Given the description of an element on the screen output the (x, y) to click on. 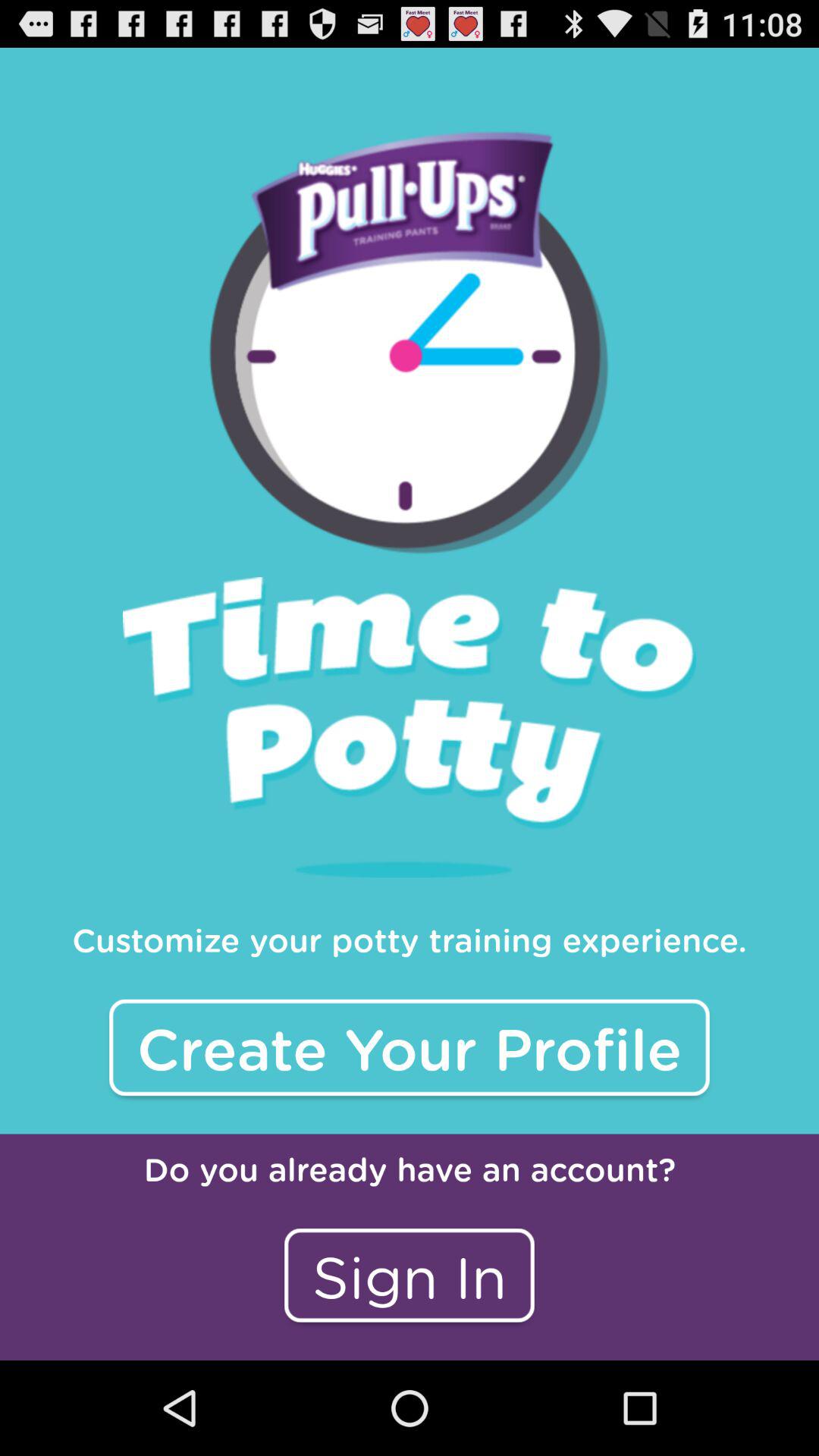
scroll to create your profile (409, 1047)
